Given the description of an element on the screen output the (x, y) to click on. 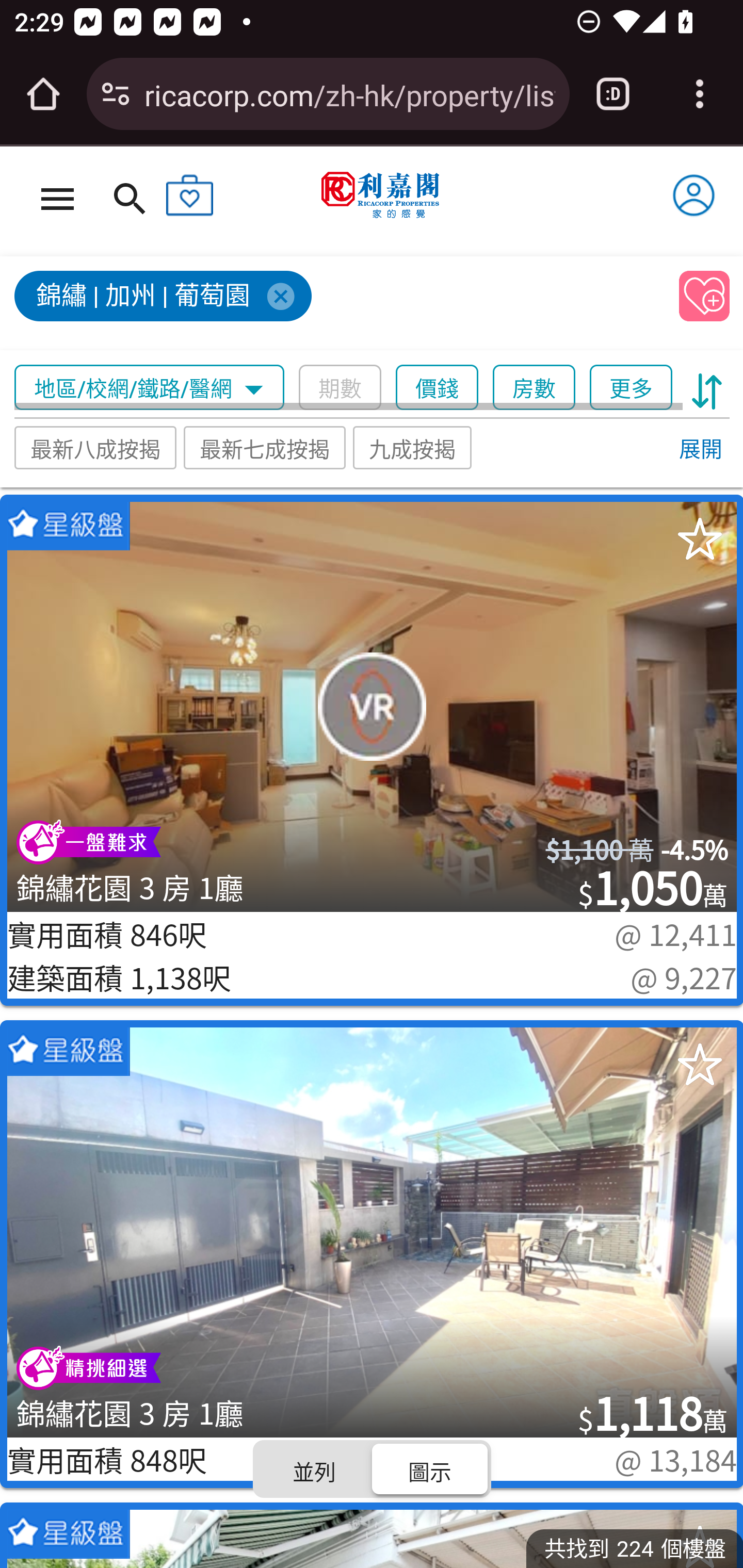
Open the home page (43, 93)
Connection is secure (115, 93)
Switch or close tabs (612, 93)
Customize and control Google Chrome (699, 93)
錦繡 | 加州 | 葡萄園 (338, 304)
地區/校網/鐵路/醫網 (149, 387)
期數 (339, 387)
價錢 (436, 387)
房數 (533, 387)
更多 (630, 387)
sort (706, 387)
最新八成按揭 (95, 446)
最新七成按揭 (264, 446)
九成按揭 (412, 446)
並列 (314, 1468)
圖示 (429, 1468)
